Given the description of an element on the screen output the (x, y) to click on. 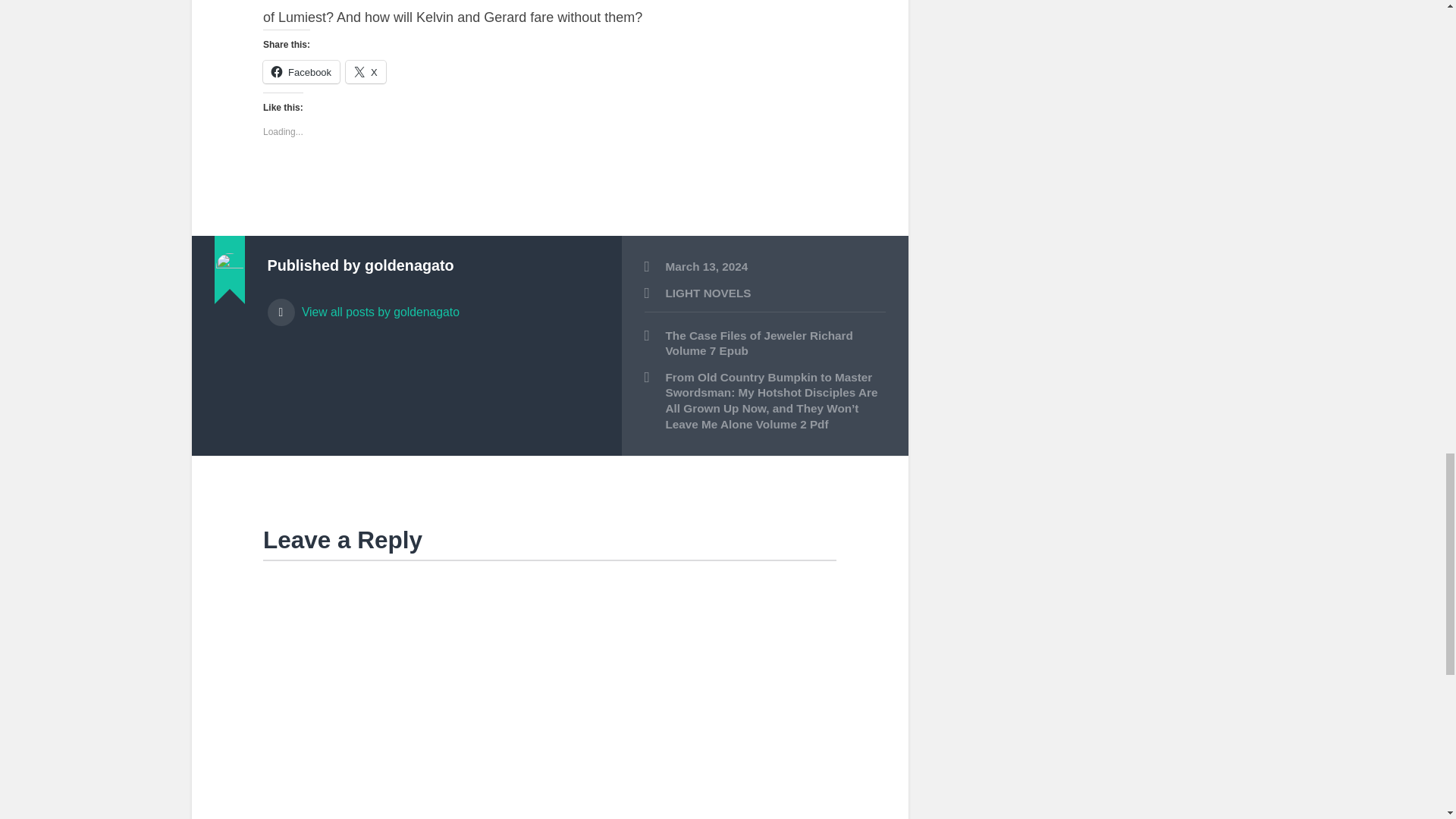
LIGHT NOVELS (708, 292)
Click to share on X (365, 71)
The Case Files of Jeweler Richard Volume 7 Epub (765, 343)
Click to share on Facebook (301, 71)
View all posts by goldenagato (432, 305)
Facebook (301, 71)
X (365, 71)
